Given the description of an element on the screen output the (x, y) to click on. 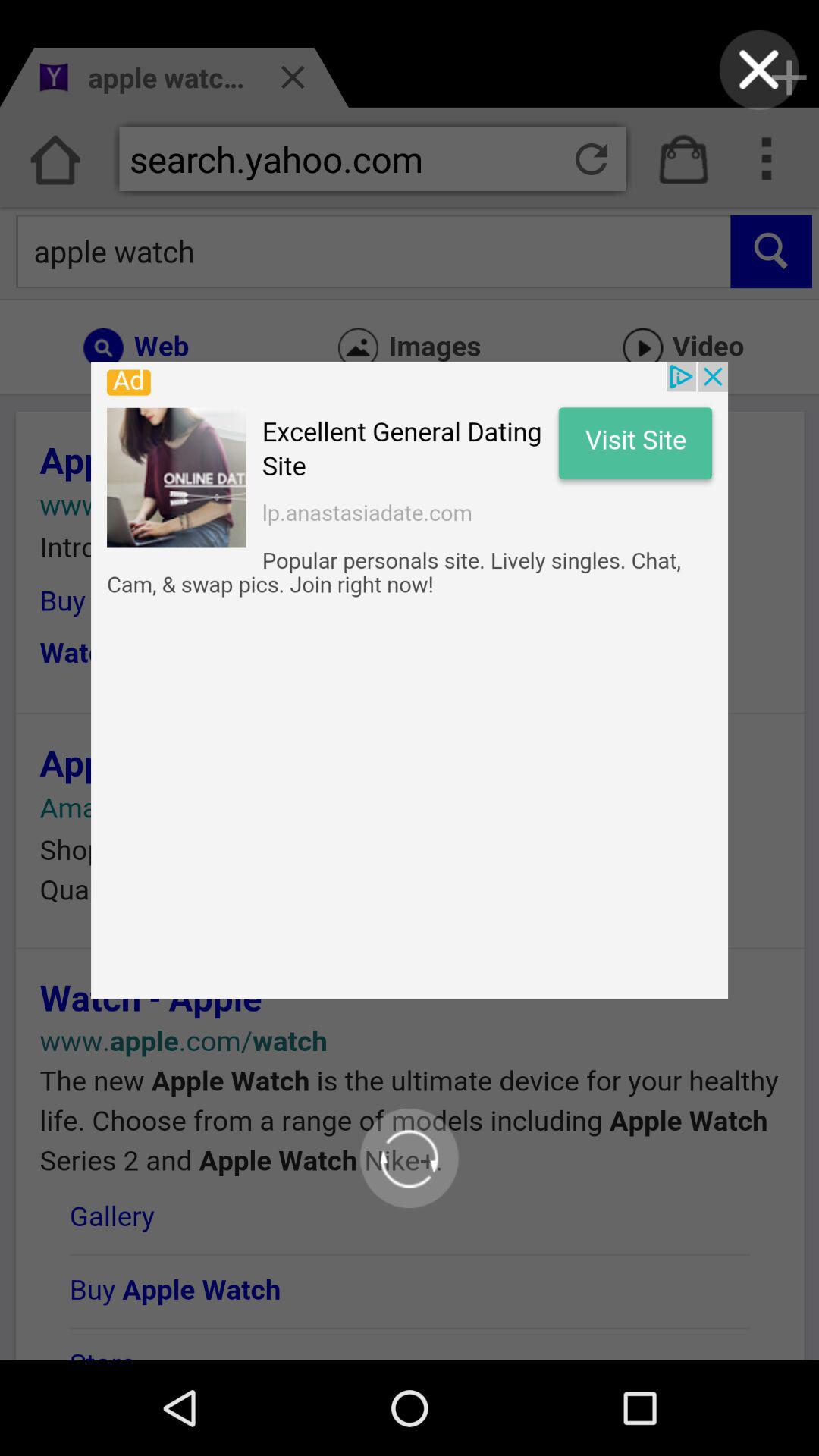
opens up advertisement (409, 679)
